Given the description of an element on the screen output the (x, y) to click on. 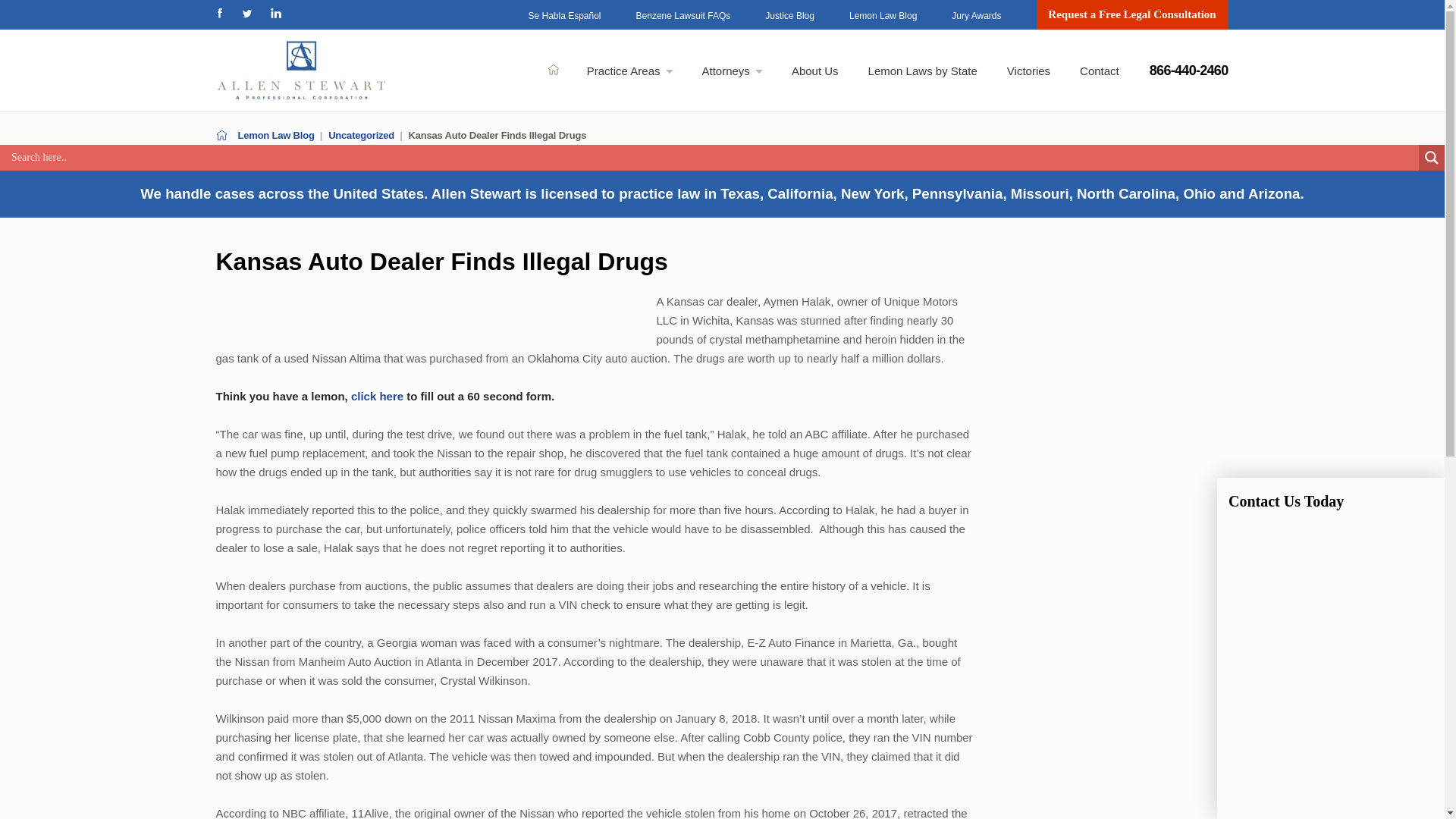
Go to Uncategorized. (361, 134)
linkedin (275, 13)
Attorneys (731, 70)
Benzene Lawsuit FAQs (683, 15)
Home (553, 69)
Request a Free Legal Consultation (1131, 14)
Lemon Law Blog (882, 15)
twitter (248, 13)
Go to Lemon Law Blog. (276, 134)
Justice Blog (789, 15)
